Given the description of an element on the screen output the (x, y) to click on. 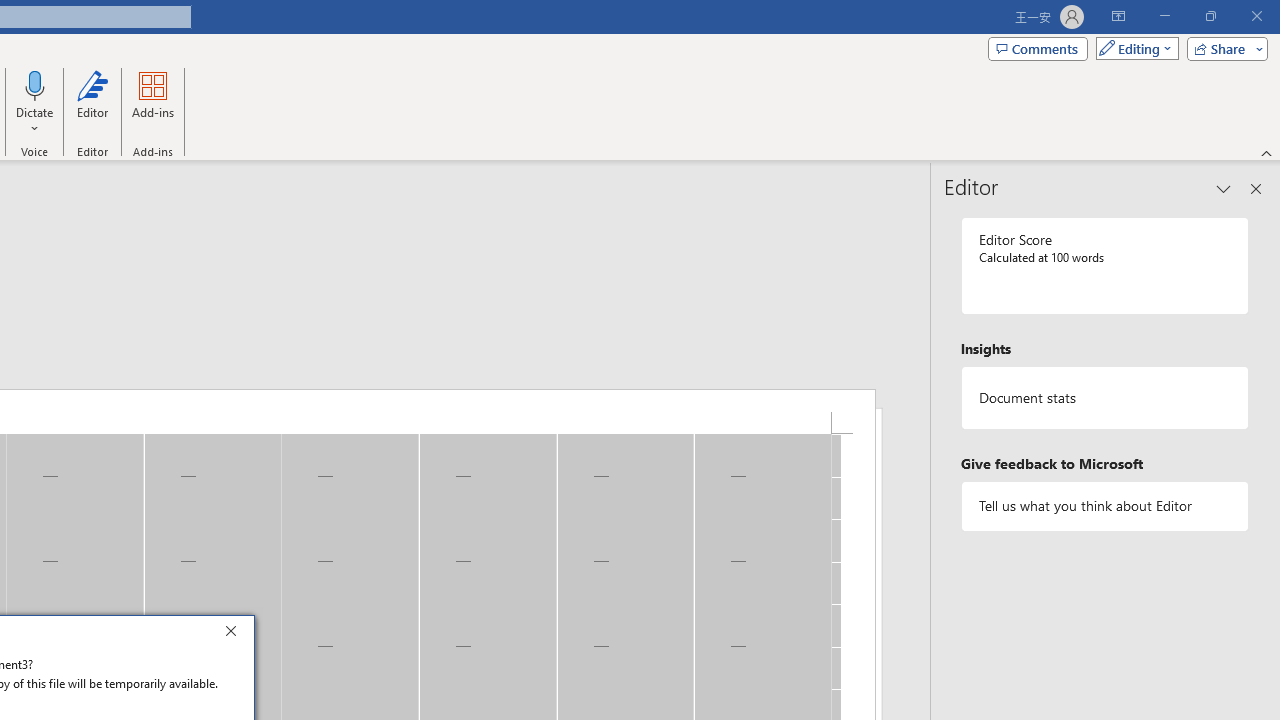
Tell us what you think about Editor (1105, 506)
Share (1223, 48)
Dictate (35, 84)
Collapse the Ribbon (1267, 152)
More Options (35, 121)
Mode (1133, 47)
Close (236, 633)
Comments (1038, 48)
Ribbon Display Options (1118, 16)
Restore Down (1210, 16)
Editor (92, 102)
Dictate (35, 102)
